Given the description of an element on the screen output the (x, y) to click on. 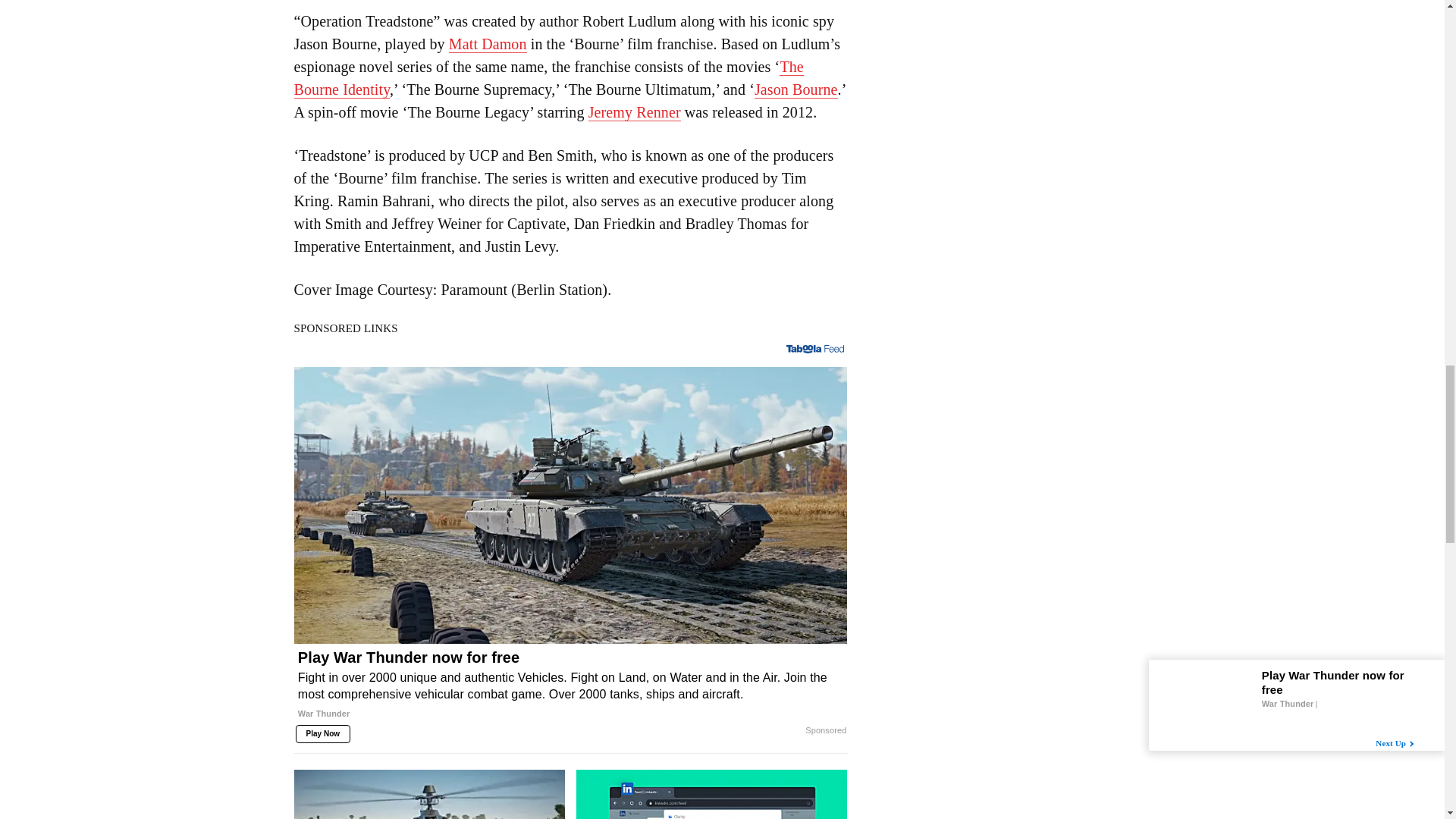
What is your writing missing? (711, 794)
Matt Damon (487, 44)
Jeremy Renner (634, 112)
Jason Bourne (796, 89)
If you own a mouse, play it for 1 minute. (429, 794)
Play War Thunder now for free (570, 690)
Play Now (322, 733)
